Given the description of an element on the screen output the (x, y) to click on. 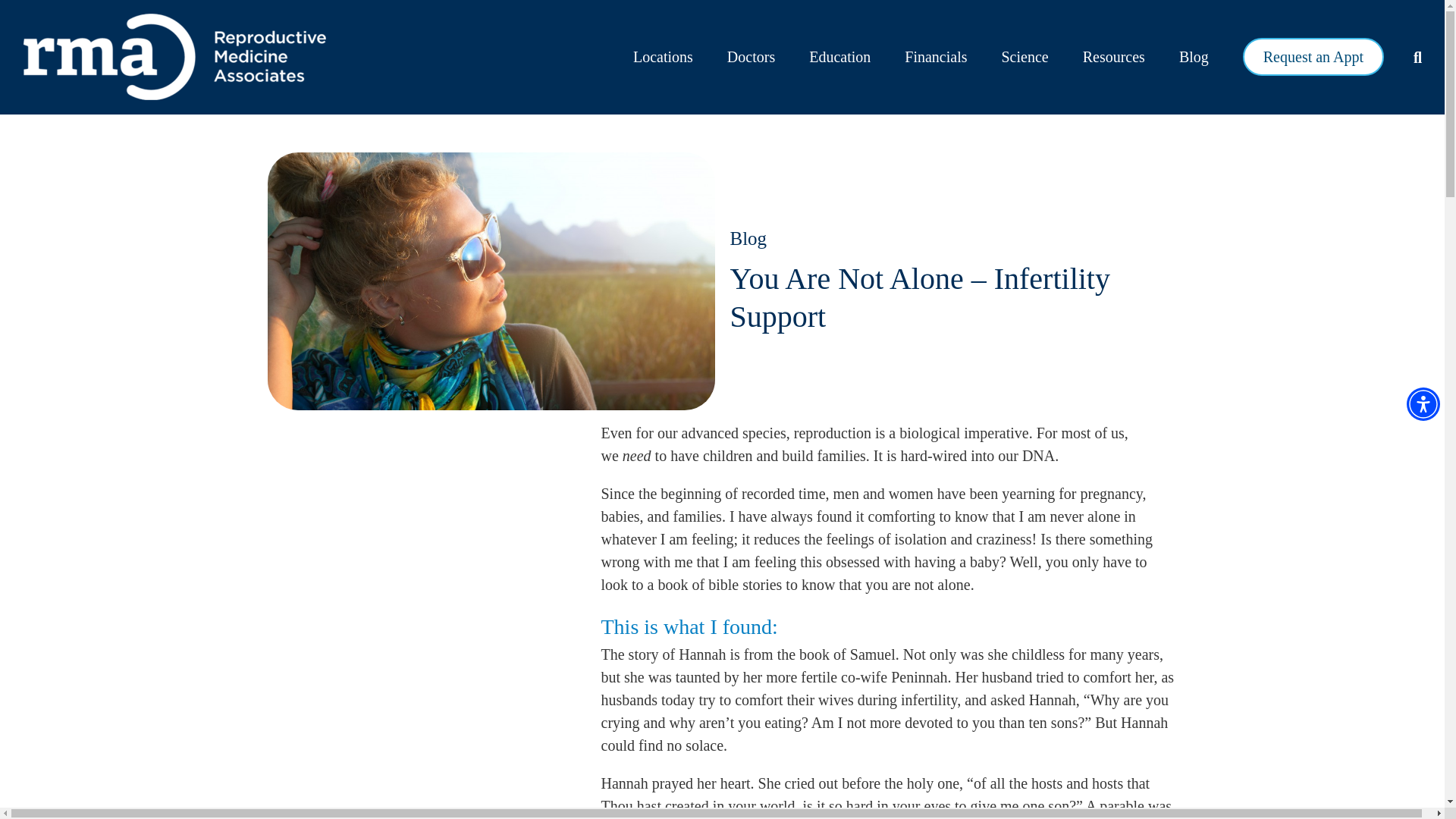
Accessibility Menu (1422, 403)
Locations (662, 56)
